Given the description of an element on the screen output the (x, y) to click on. 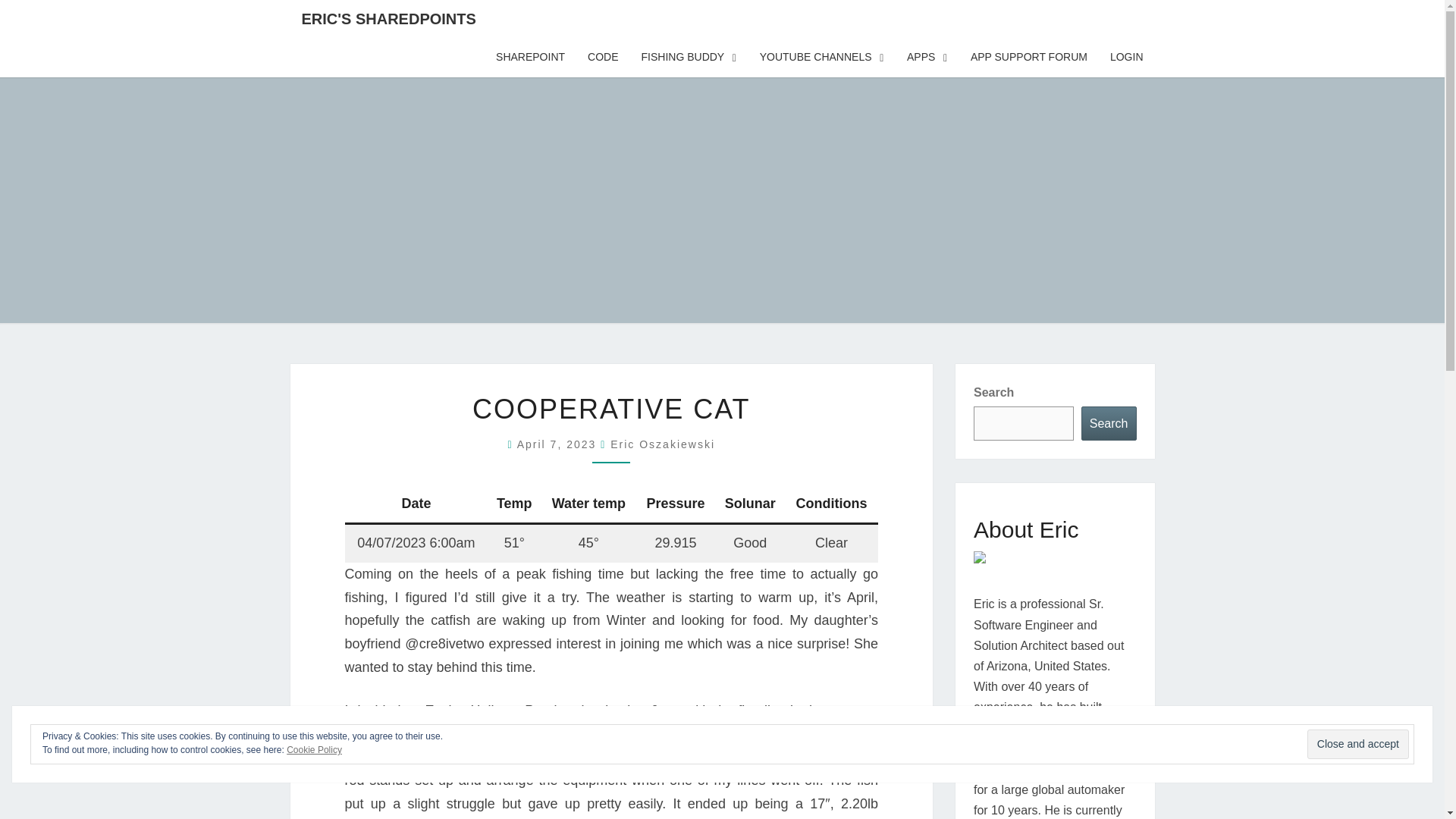
Close and accept (1358, 744)
View all posts by Eric Oszakiewski (662, 444)
April 7, 2023 (558, 444)
Close and accept (1358, 744)
YOUTUBE CHANNELS (821, 56)
SHAREPOINT (530, 56)
2:56 pm (558, 444)
FISHING BUDDY (689, 56)
ERIC'S SHAREDPOINTS (387, 18)
APPS (927, 56)
Cookie Policy (314, 749)
Eric Oszakiewski (662, 444)
CODE (602, 56)
Search (1109, 423)
LOGIN (1126, 56)
